Given the description of an element on the screen output the (x, y) to click on. 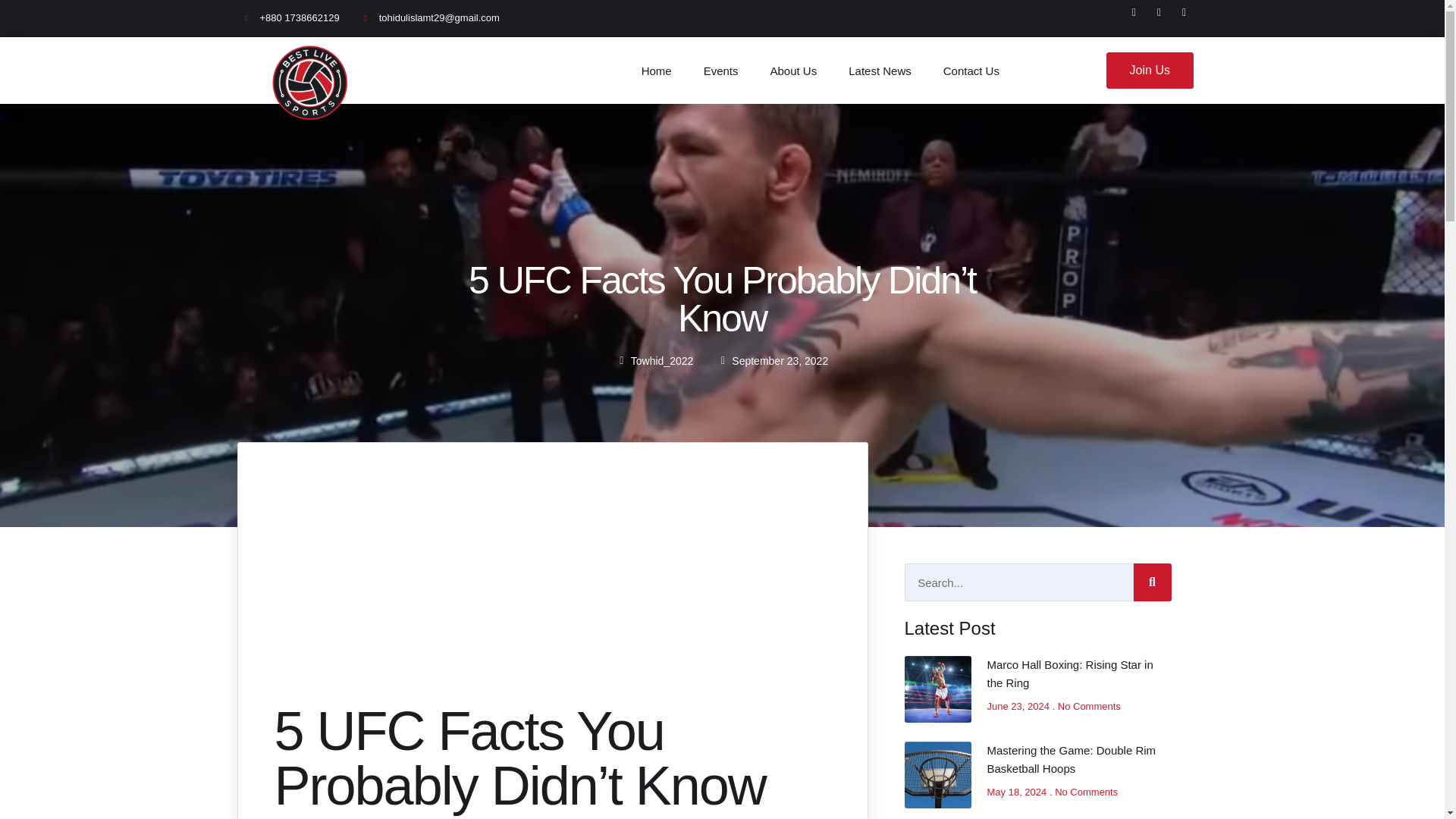
Mastering the Game: Double Rim Basketball Hoops (1071, 758)
Advertisement (553, 591)
Join Us (1149, 70)
September 23, 2022 (772, 360)
Marco Hall Boxing: Rising Star in the Ring (1070, 673)
Events (720, 69)
About Us (793, 69)
Latest News (879, 69)
Contact Us (970, 69)
